Given the description of an element on the screen output the (x, y) to click on. 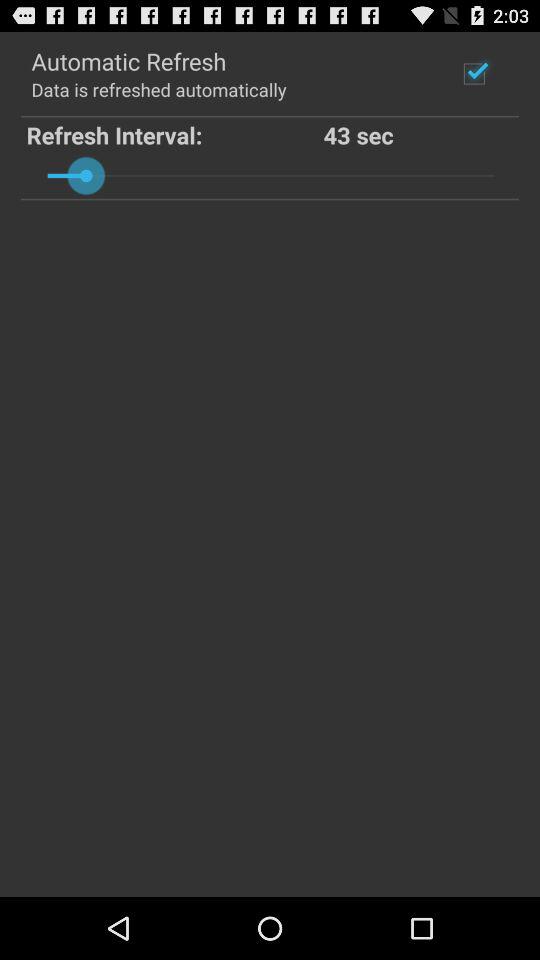
tap the item below data is refreshed item (174, 134)
